Given the description of an element on the screen output the (x, y) to click on. 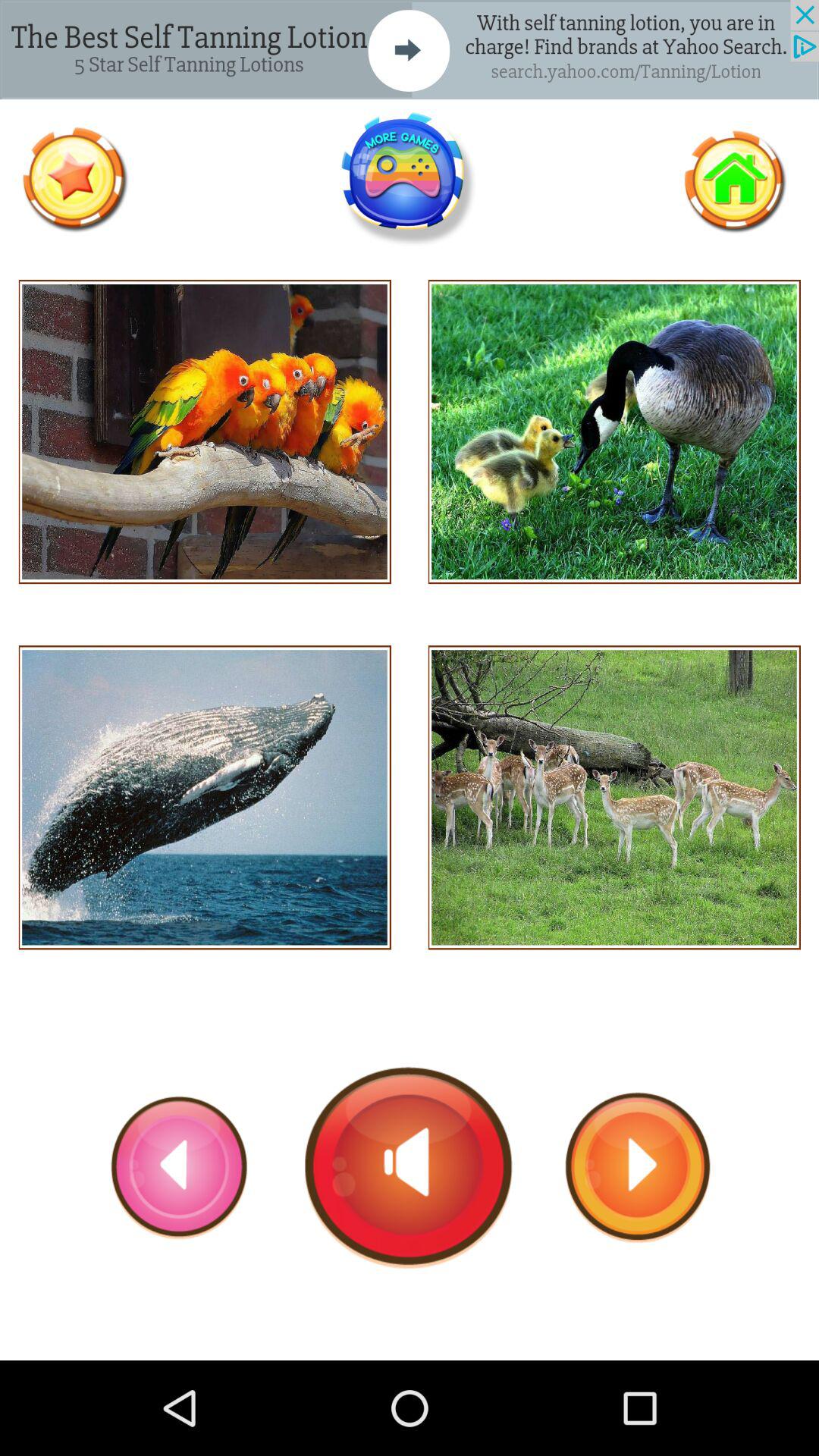
select this pic (204, 797)
